Given the description of an element on the screen output the (x, y) to click on. 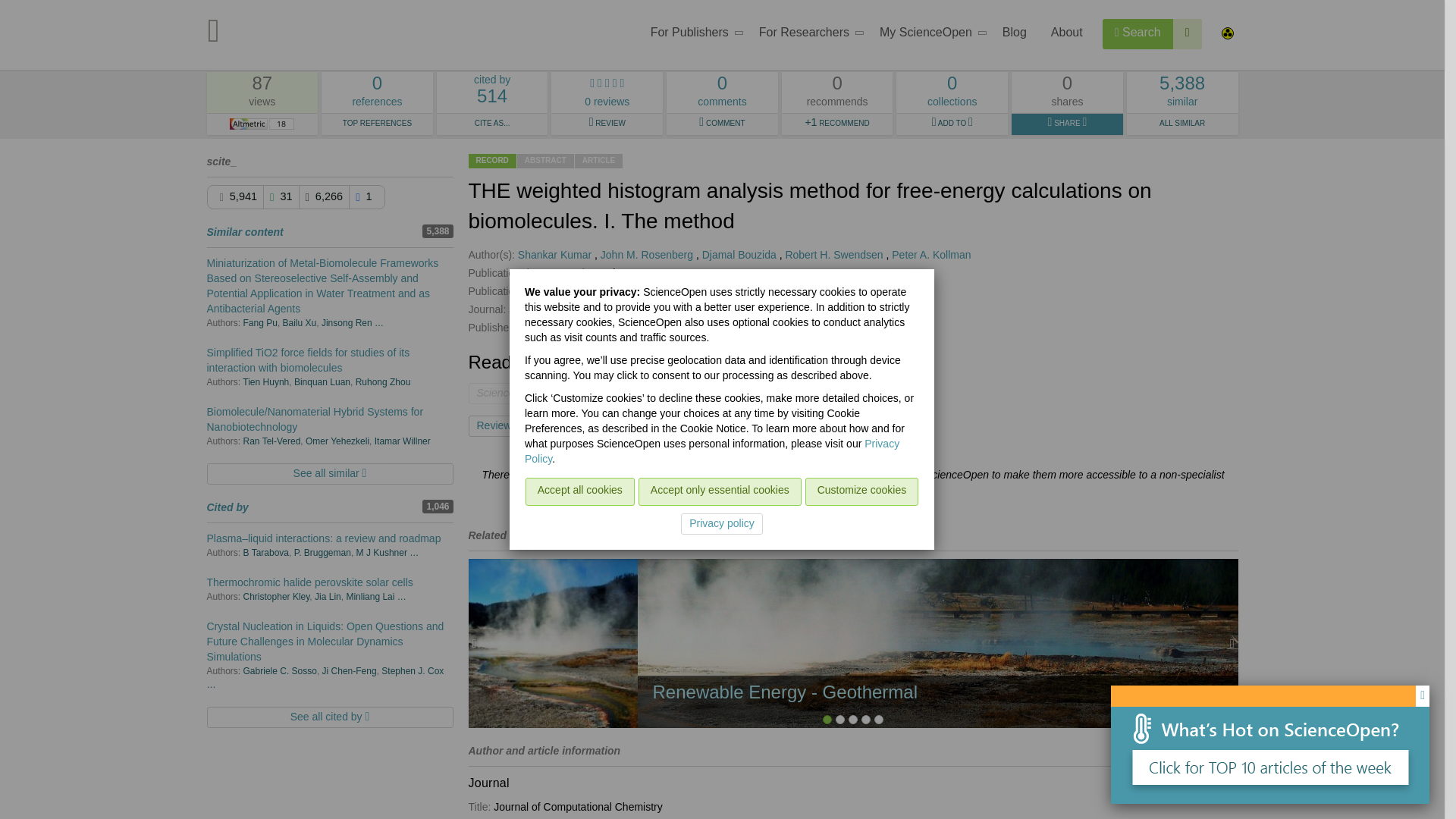
Blog (1014, 34)
For Publishers (692, 34)
Toggle accessible mode (1226, 34)
My ScienceOpen (928, 34)
About (1066, 34)
Advanced search (1187, 33)
Search (1137, 33)
Bookmark (569, 425)
Close (1422, 695)
For Researchers (376, 92)
